Given the description of an element on the screen output the (x, y) to click on. 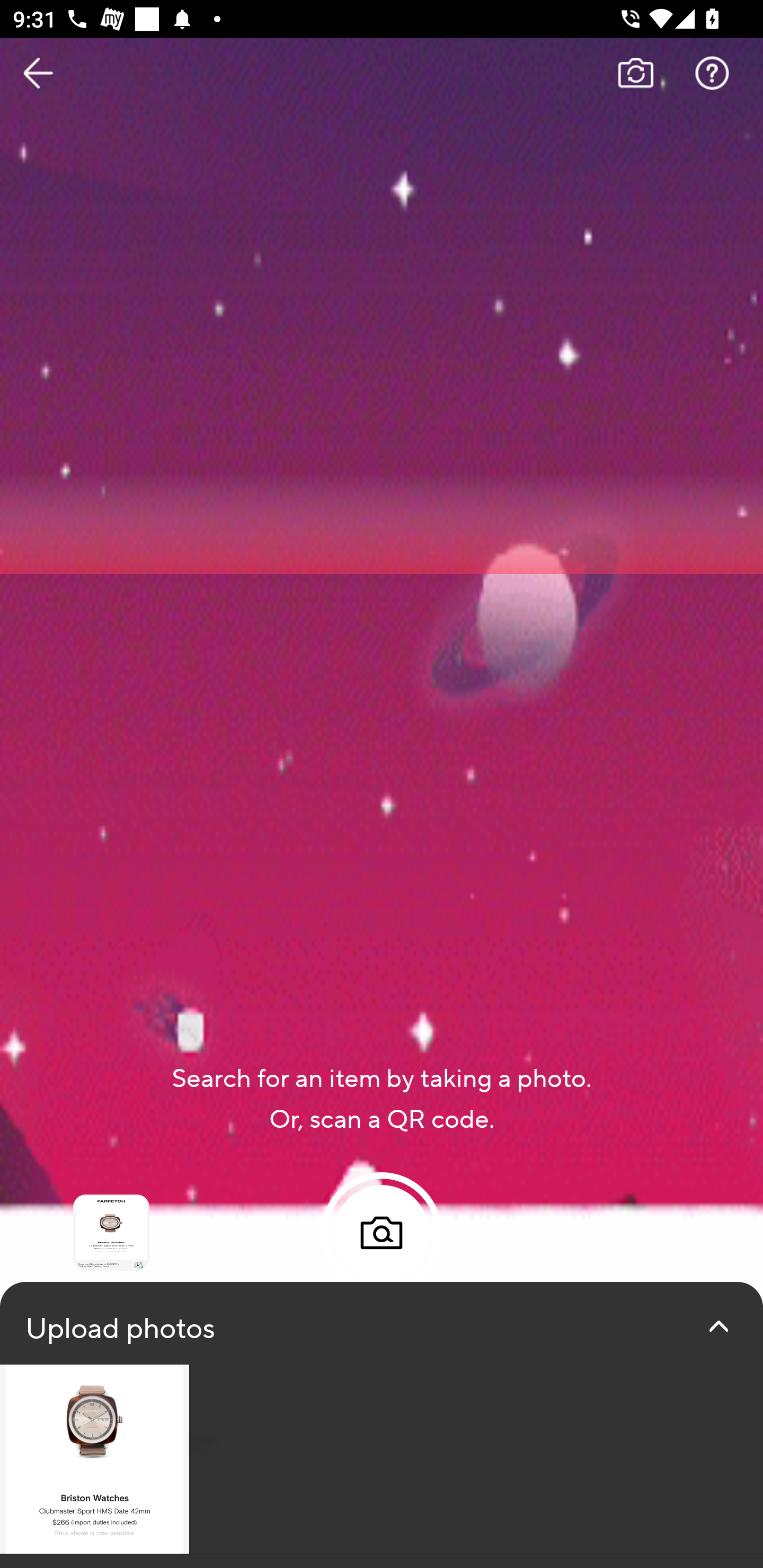
Upload photos  (381, 1425)
 (718, 1326)
